Given the description of an element on the screen output the (x, y) to click on. 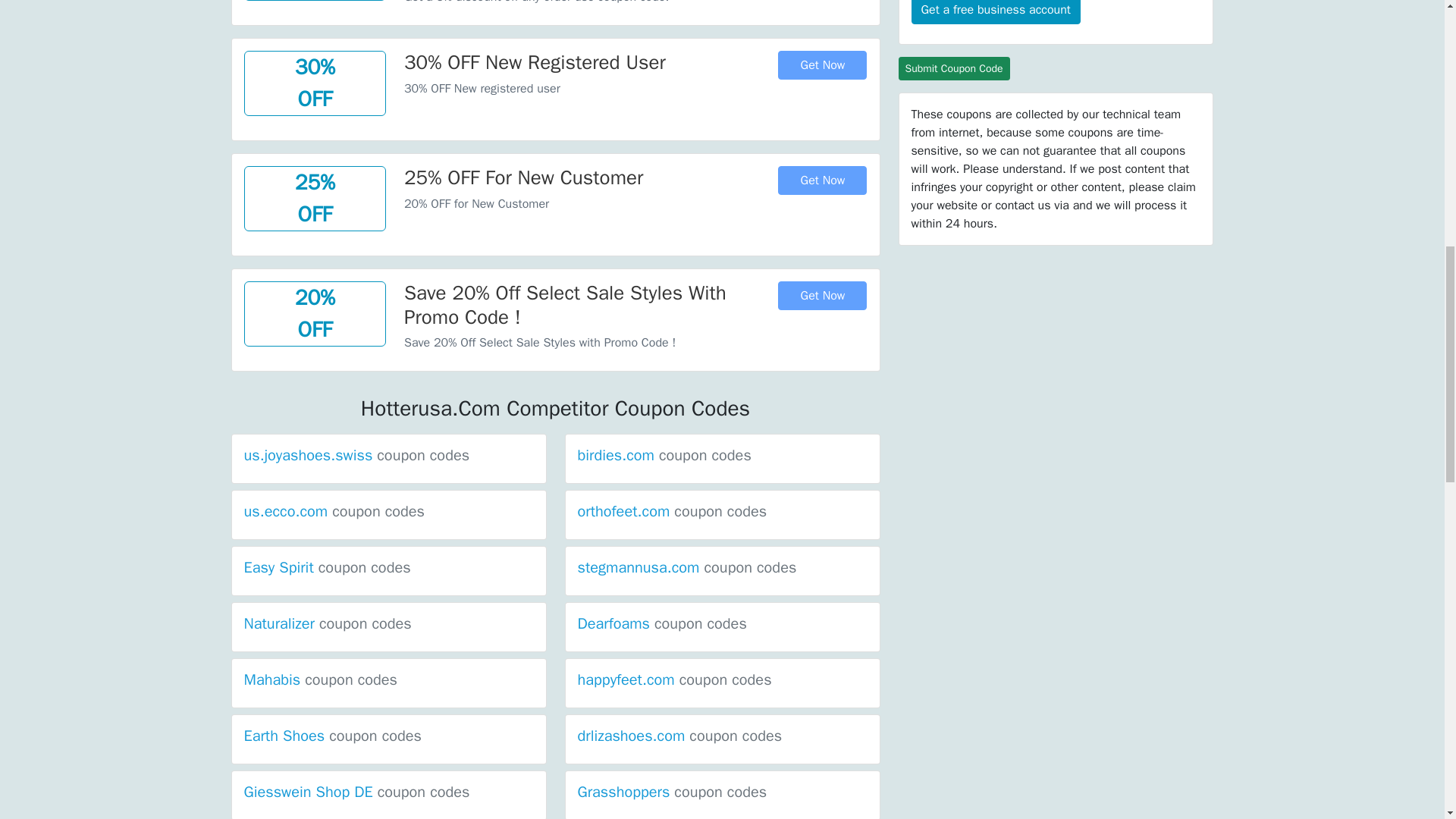
Mahabis coupon codes (320, 679)
Giesswein Shop DE coupon codes (357, 791)
Grasshoppers coupon codes (672, 791)
happyfeet.com coupon codes (674, 679)
Naturalizer coupon codes (328, 623)
Get Now (821, 295)
Mahabis coupon codes (320, 679)
Grasshoppers coupon codes (672, 791)
Easy Spirit coupon codes (327, 567)
Giesswein Shop DE coupon codes (357, 791)
Dearfoams coupon codes (662, 623)
Easy Spirit coupon codes (327, 567)
Earth Shoes coupon codes (333, 735)
birdies.com coupon codes (664, 455)
birdies.com coupon codes (664, 455)
